Given the description of an element on the screen output the (x, y) to click on. 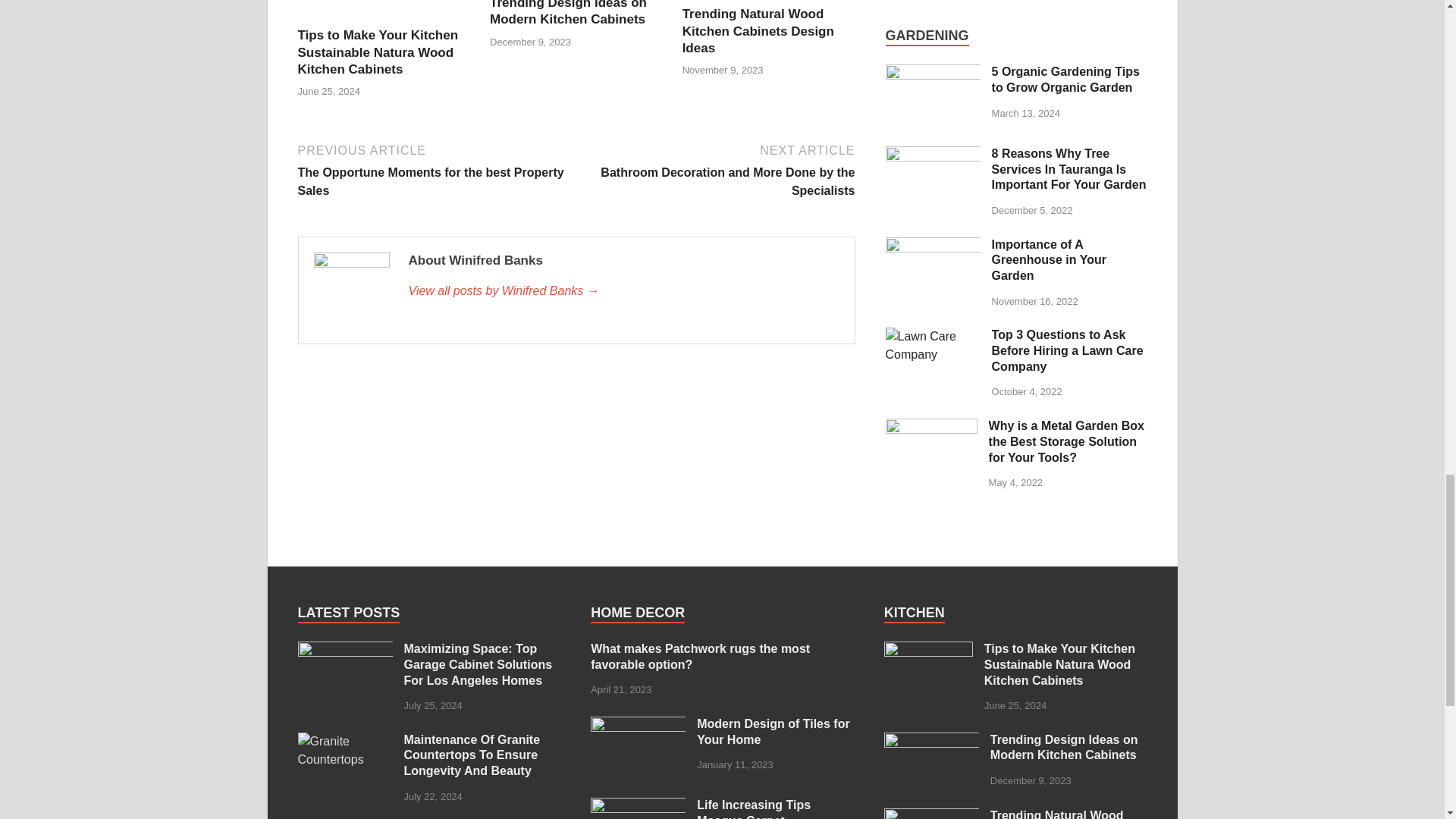
5 Organic Gardening Tips to Grow Organic Garden (932, 72)
Winifred Banks (622, 290)
Trending Natural Wood Kitchen Cabinets Design Ideas (758, 30)
Trending Design Ideas on Modern Kitchen Cabinets (567, 13)
Trending Natural Wood Kitchen Cabinets Design Ideas (758, 30)
Trending Design Ideas on Modern Kitchen Cabinets (567, 13)
